Given the description of an element on the screen output the (x, y) to click on. 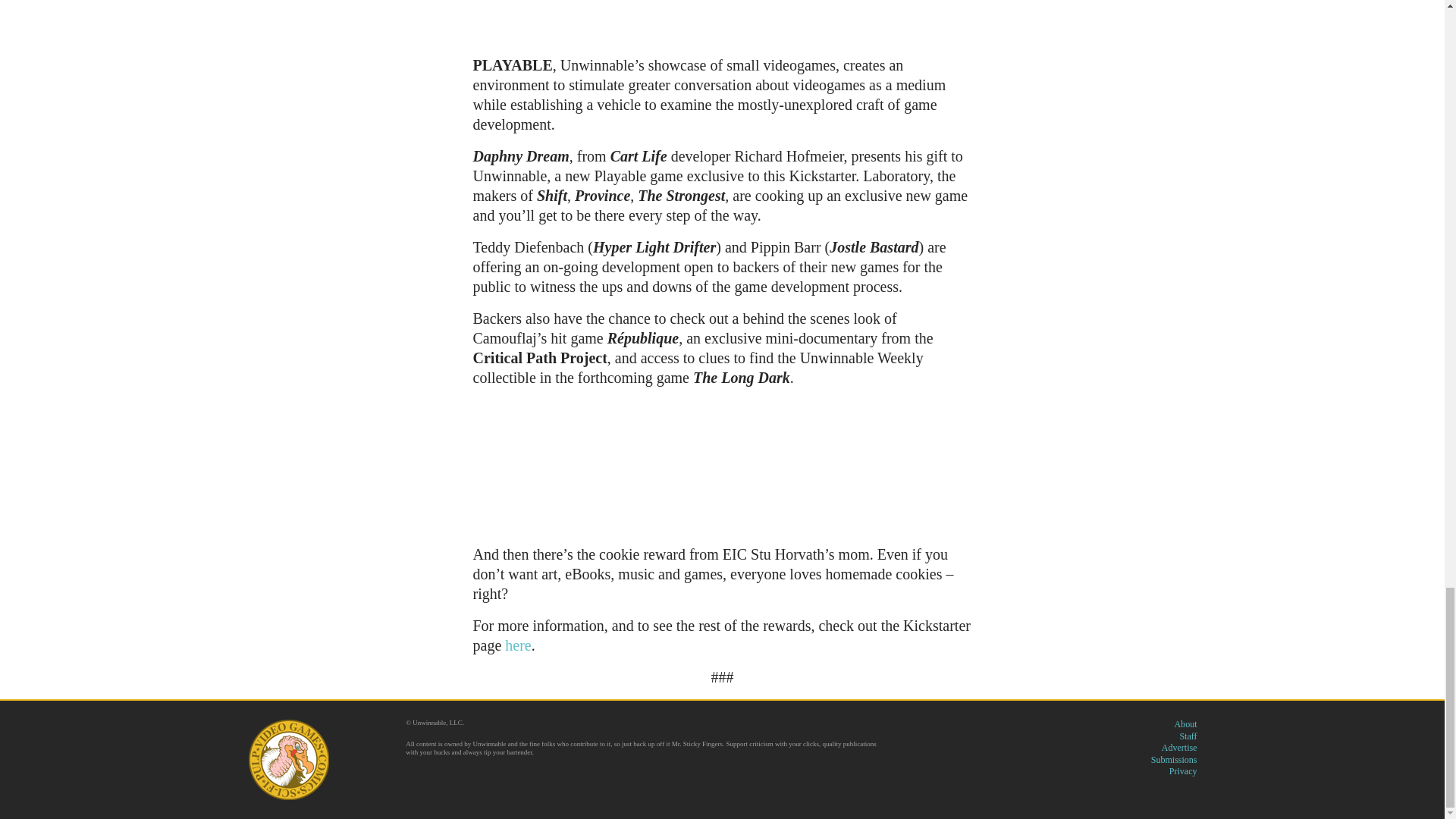
Privacy (1182, 770)
here (518, 645)
Staff (1187, 736)
About (1184, 724)
Submissions (1173, 759)
Advertise (1178, 747)
